Given the description of an element on the screen output the (x, y) to click on. 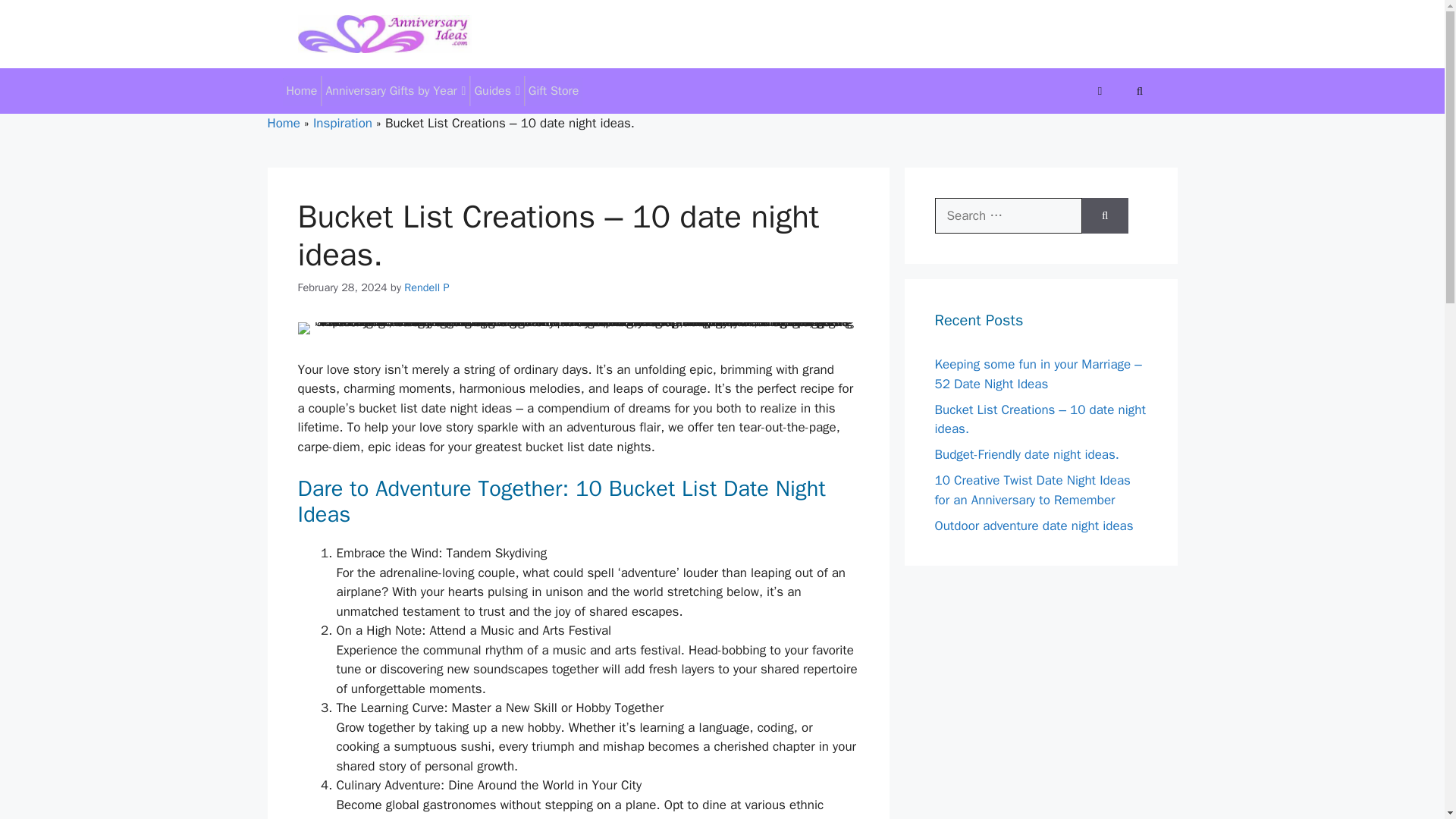
Home (301, 91)
Search for: (1007, 216)
home (301, 91)
View all posts by Rendell P (426, 287)
Anniversary Gifts by Year (394, 91)
